Given the description of an element on the screen output the (x, y) to click on. 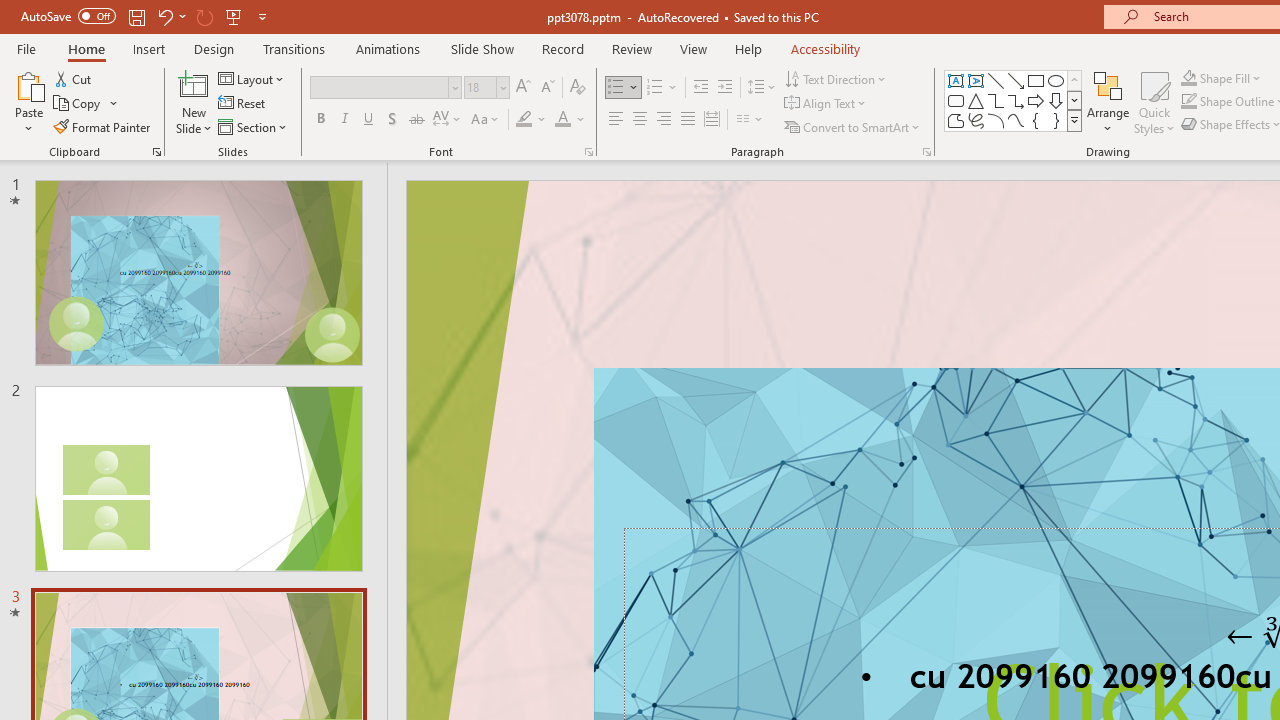
Shape Fill Dark Green, Accent 2 (1188, 78)
